Given the description of an element on the screen output the (x, y) to click on. 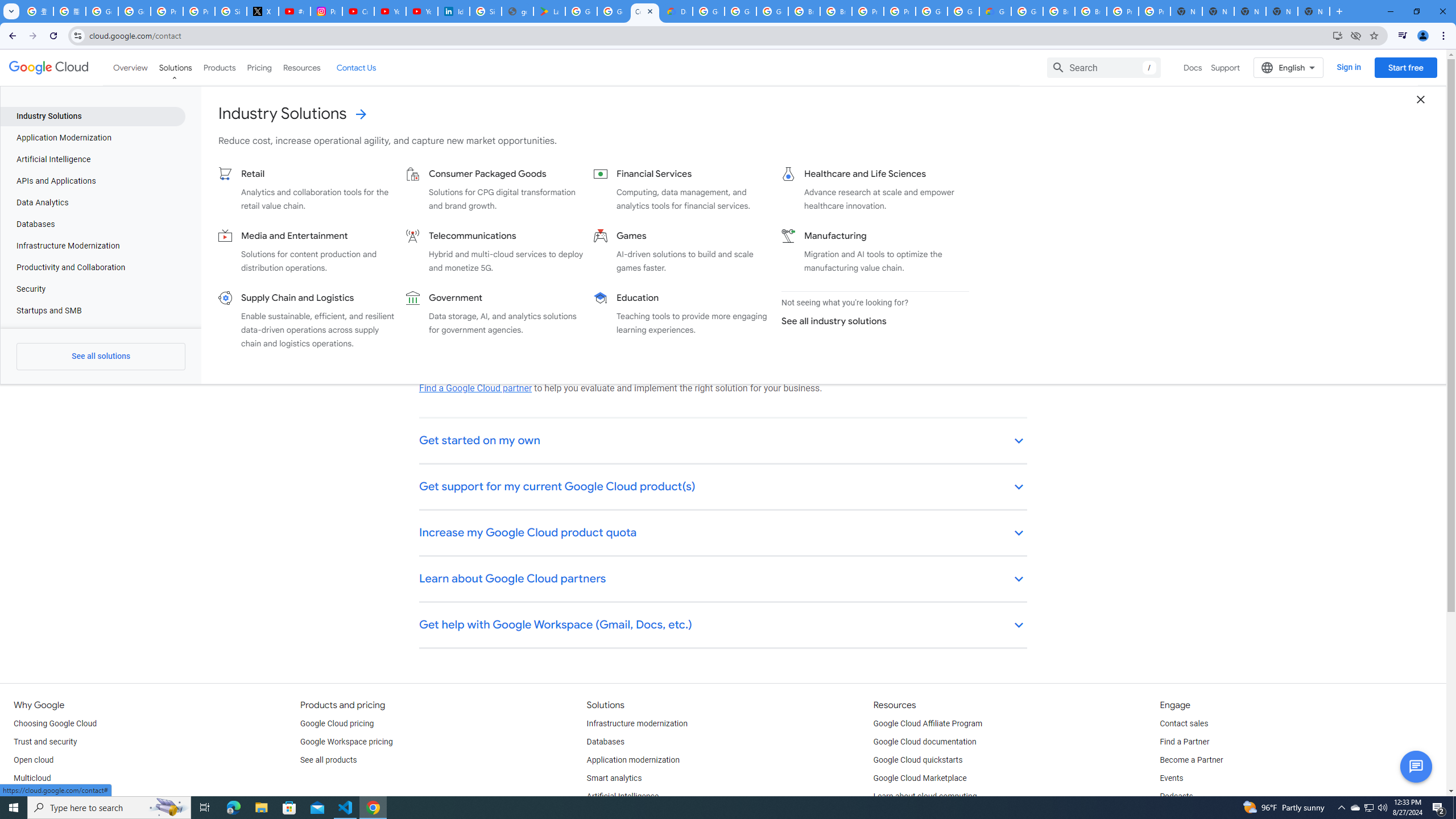
Google Cloud Marketplace (919, 778)
Industry Solutions (92, 116)
Button to activate chat (1416, 766)
Sign in - Google Accounts (230, 11)
Google Cloud Estimate Summary (995, 11)
Games AI-driven solutions to build and scale games faster. (682, 251)
Talk to a Google Cloud sales specialist keyboard_arrow_up (723, 195)
Global infrastructure (49, 796)
